Given the description of an element on the screen output the (x, y) to click on. 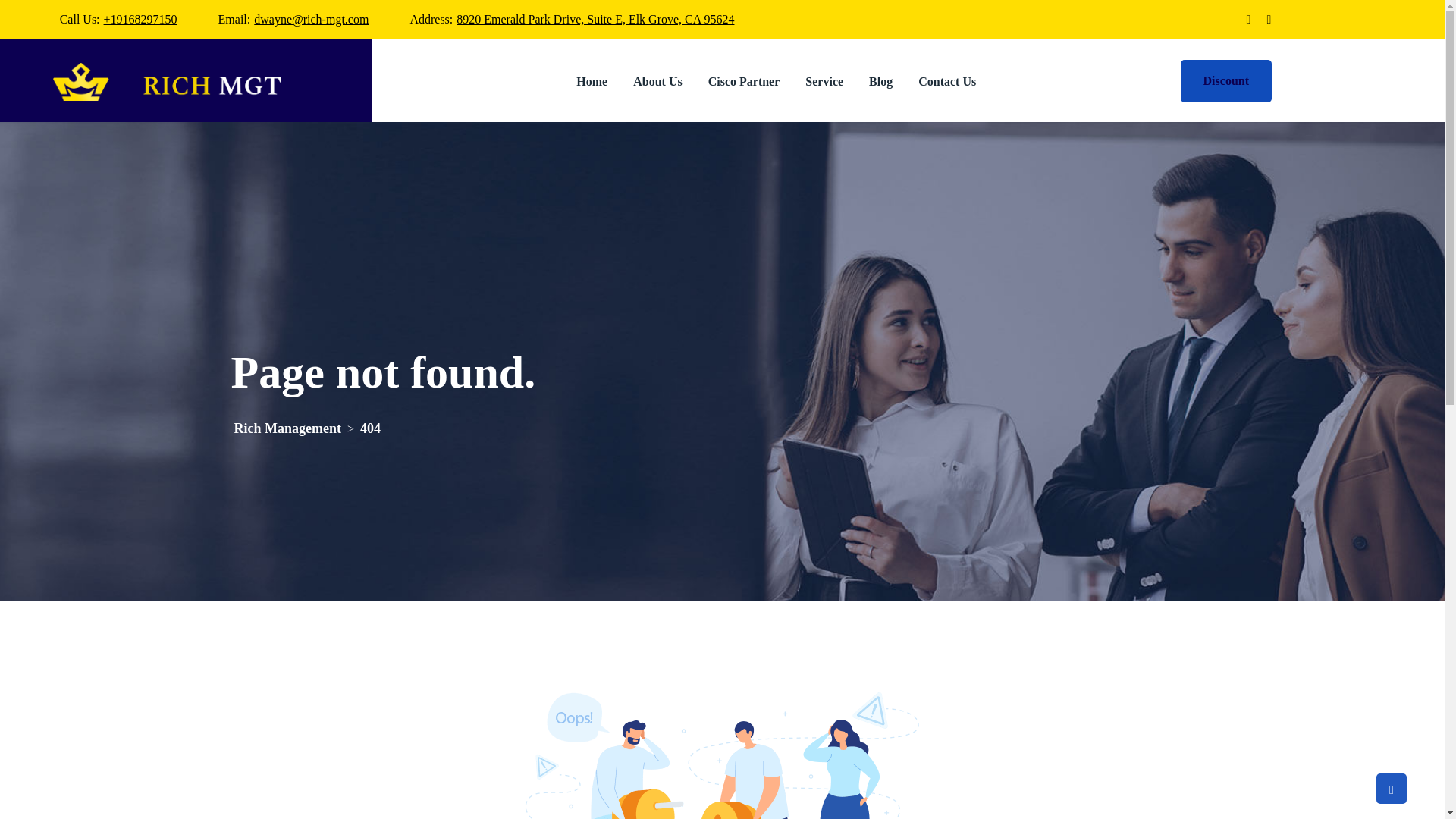
About Us (657, 80)
Go to 404. (369, 427)
Discount (1225, 80)
Contact Us (947, 80)
Go to Rich Management. (286, 427)
8920 Emerald Park Drive, Suite E, Elk Grove, CA 95624 (595, 19)
404 (369, 427)
Rich Management Logo (166, 81)
Rich Management (286, 427)
Cisco Partner (744, 80)
